Given the description of an element on the screen output the (x, y) to click on. 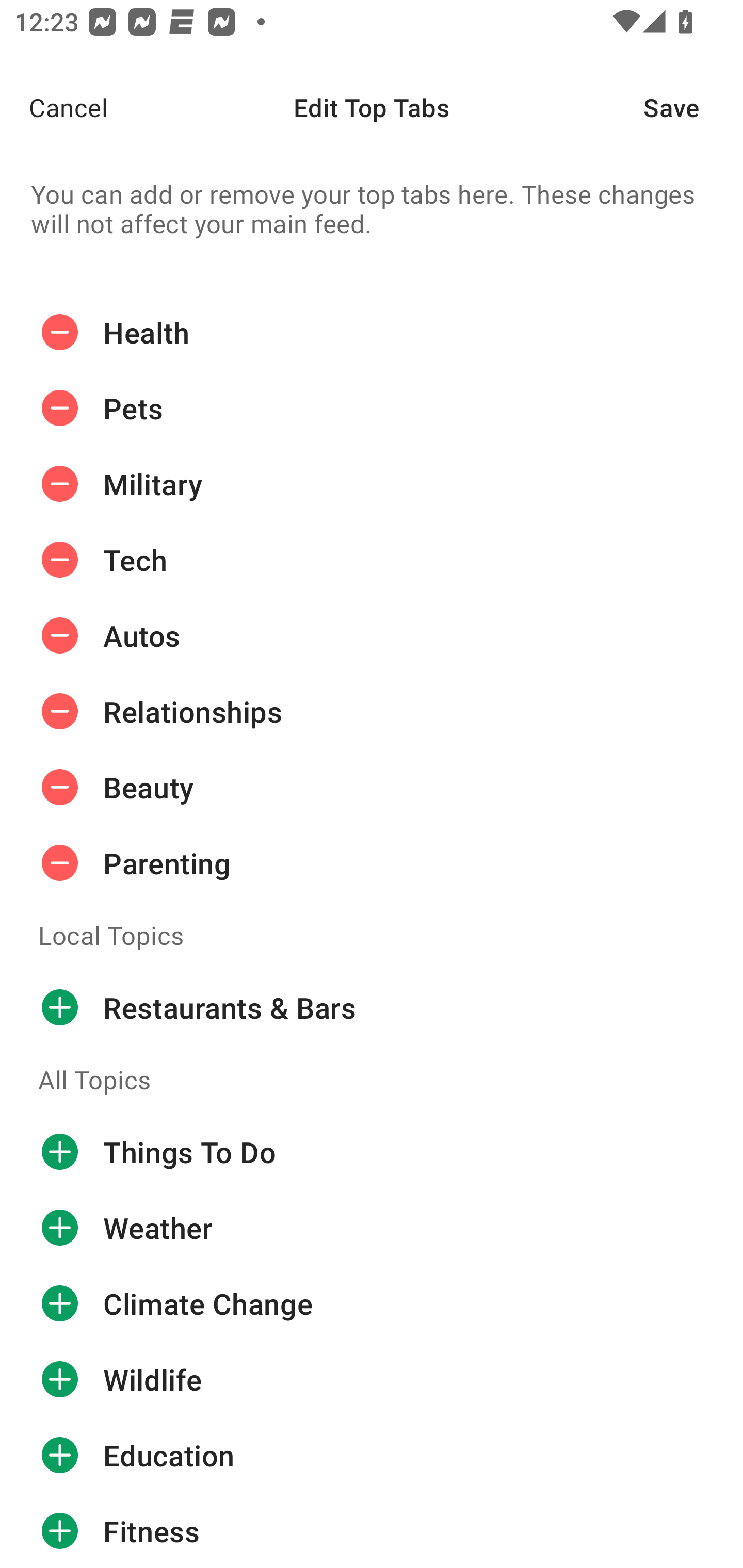
Cancel (53, 106)
Save (693, 106)
Health (371, 332)
Pets (371, 408)
Military (371, 484)
Tech (371, 559)
Autos (371, 635)
Relationships (371, 711)
Beauty (371, 786)
Parenting (371, 862)
Restaurants & Bars (371, 1007)
Things To Do (371, 1152)
Weather (371, 1227)
Climate Change (371, 1303)
Wildlife (371, 1379)
Education (371, 1454)
Fitness (371, 1530)
